Given the description of an element on the screen output the (x, y) to click on. 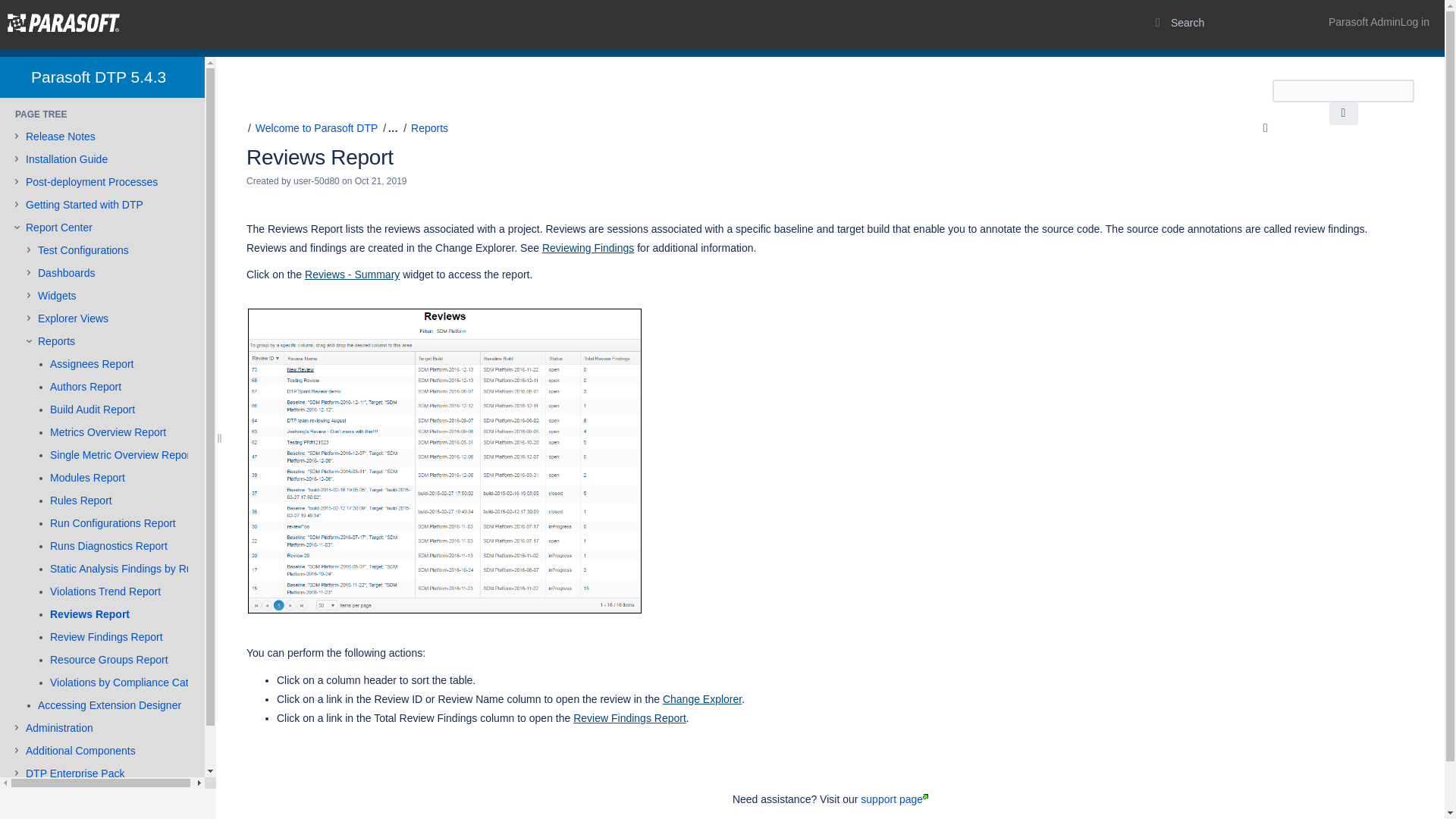
Widgets (57, 296)
Parasoft DTP 5.4.3 (97, 76)
Release Notes (61, 136)
Authors Report (84, 387)
Reports (56, 341)
Installation Guide (66, 159)
Log in (1378, 22)
Post-deployment Processes (91, 182)
Explorer Views (72, 319)
Dashboards (66, 273)
